Given the description of an element on the screen output the (x, y) to click on. 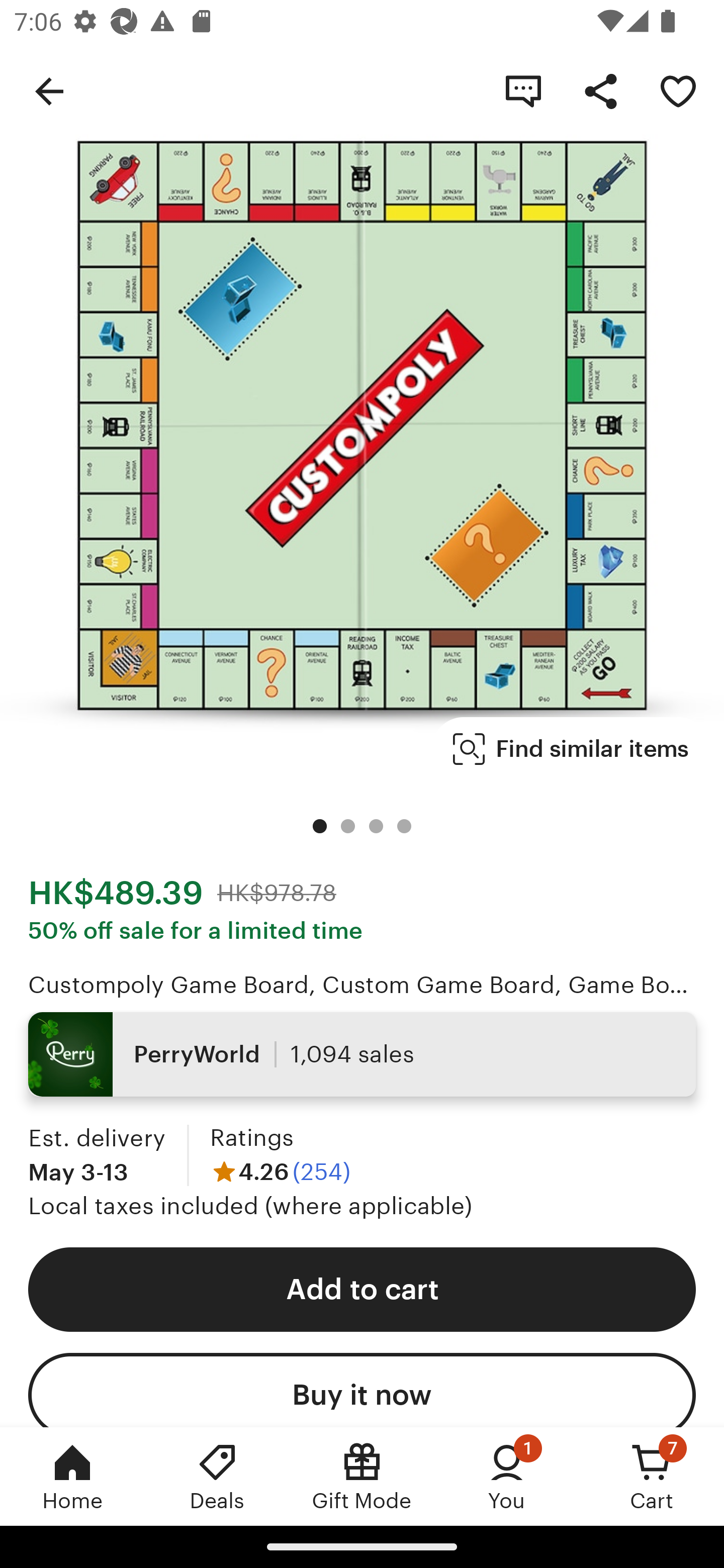
Navigate up (49, 90)
Contact shop (523, 90)
Share (600, 90)
Find similar items (571, 748)
PerryWorld 1,094 sales (361, 1054)
Ratings (251, 1137)
4.26 (254) (280, 1171)
Add to cart (361, 1289)
Buy it now (361, 1389)
Deals (216, 1475)
Gift Mode (361, 1475)
You, 1 new notification You (506, 1475)
Cart, 7 new notifications Cart (651, 1475)
